Given the description of an element on the screen output the (x, y) to click on. 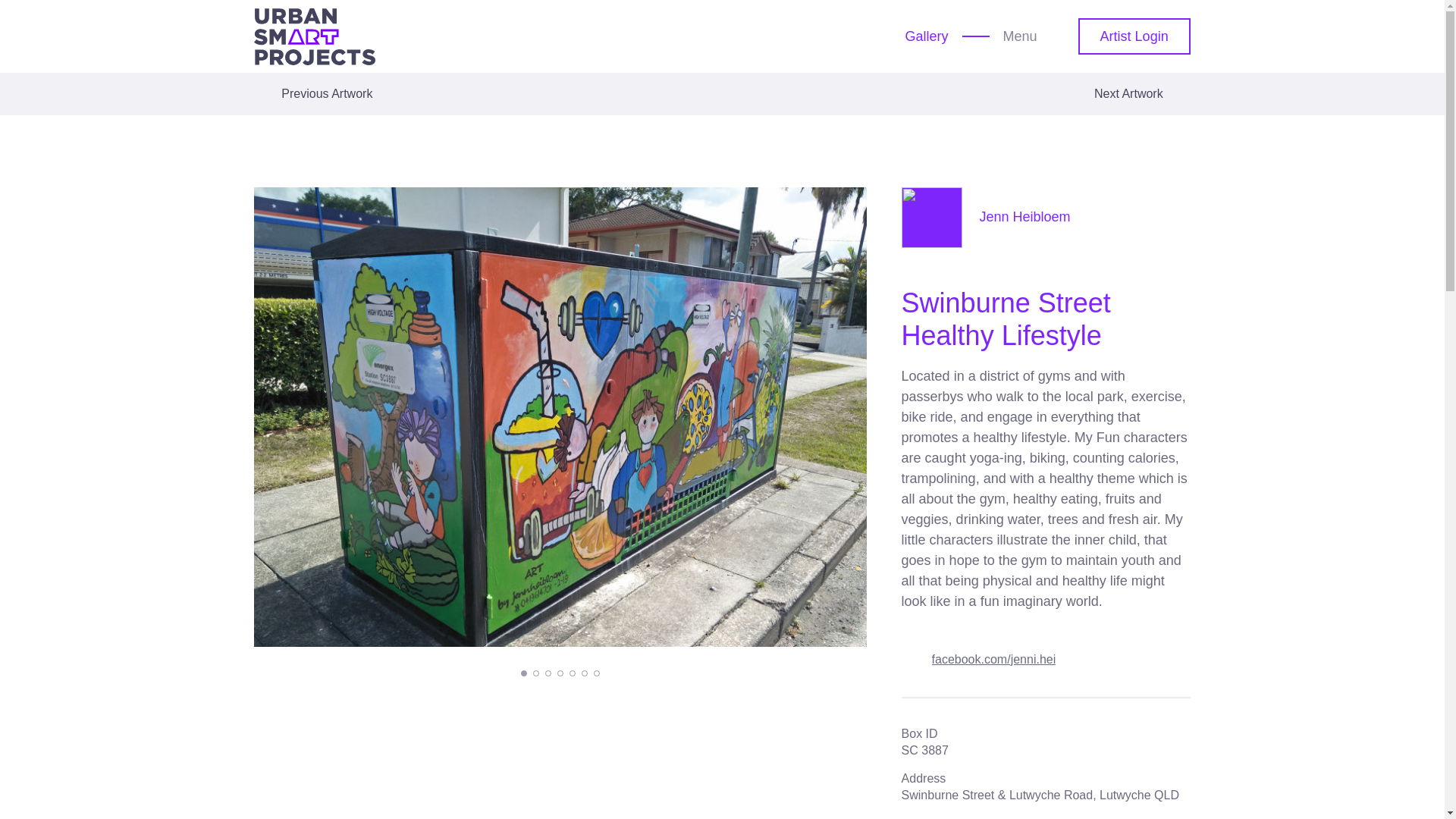
2 (535, 673)
1 (524, 673)
7 (596, 673)
Next Artwork (1142, 93)
5 (572, 673)
Menu (1033, 35)
4 (560, 673)
6 (584, 673)
3 (547, 673)
Artist Login (1134, 36)
